Given the description of an element on the screen output the (x, y) to click on. 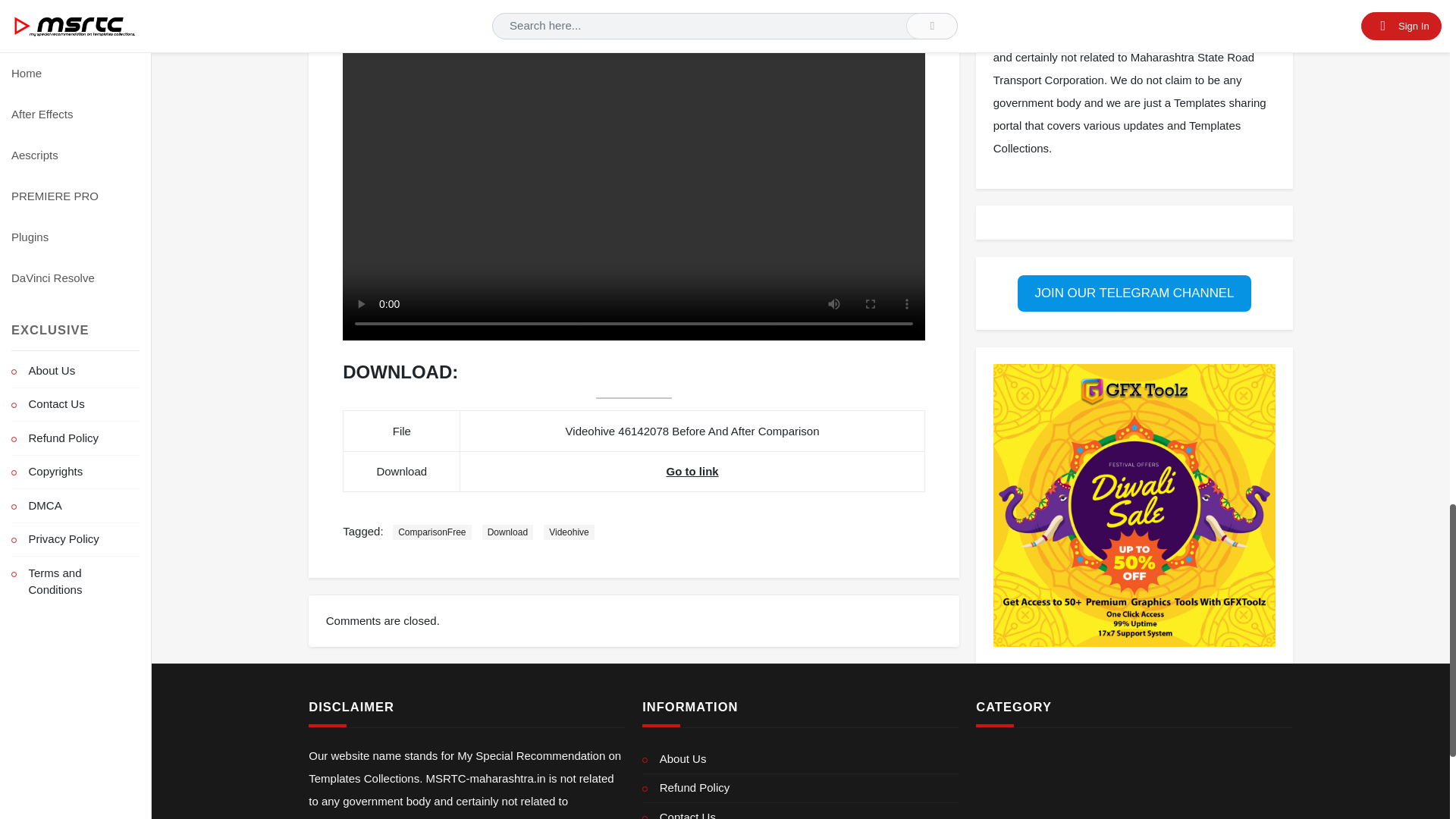
Refund Policy (800, 787)
Videohive (568, 531)
ComparisonFree (431, 531)
Contact Us (800, 814)
Go to link (691, 471)
Download (506, 531)
About Us (800, 759)
